Given the description of an element on the screen output the (x, y) to click on. 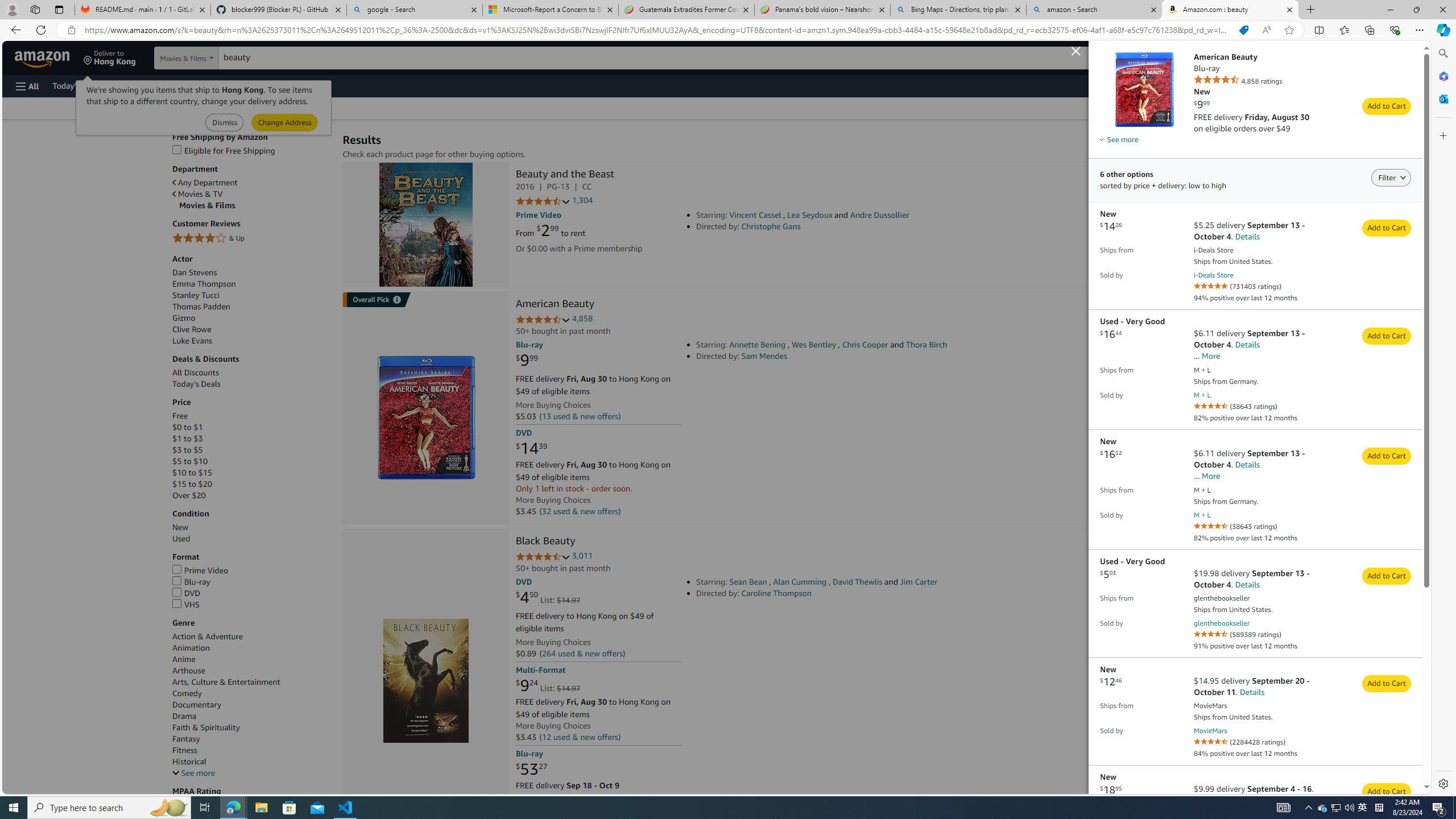
3,011 (582, 556)
Today's Deals (196, 383)
Open Menu (26, 86)
$14.39 (531, 448)
Comedy (251, 693)
$0 to $1 (186, 426)
Search in (210, 58)
Beauty and the Beast (426, 224)
Stanley Tucci (251, 295)
(32 used & new offers) (579, 511)
$1 to $3 (251, 438)
Free (251, 415)
Animation (190, 647)
